Given the description of an element on the screen output the (x, y) to click on. 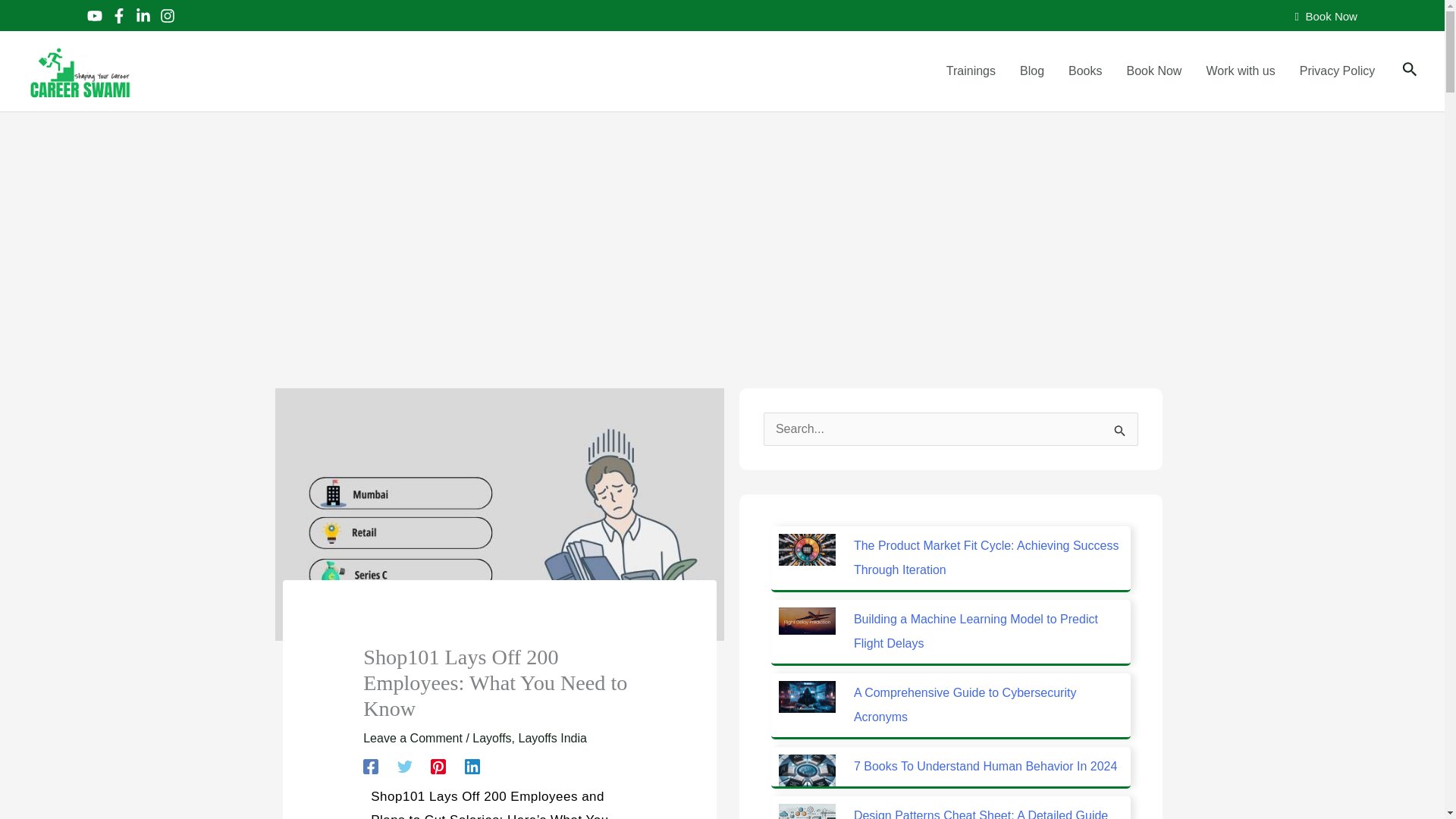
Layoffs India (552, 738)
  Book Now (1325, 26)
Leave a Comment (412, 738)
Books (1085, 71)
Trainings (970, 71)
Book Now (1154, 71)
Work with us (1240, 71)
Layoffs (491, 738)
Blog (1032, 71)
